Given the description of an element on the screen output the (x, y) to click on. 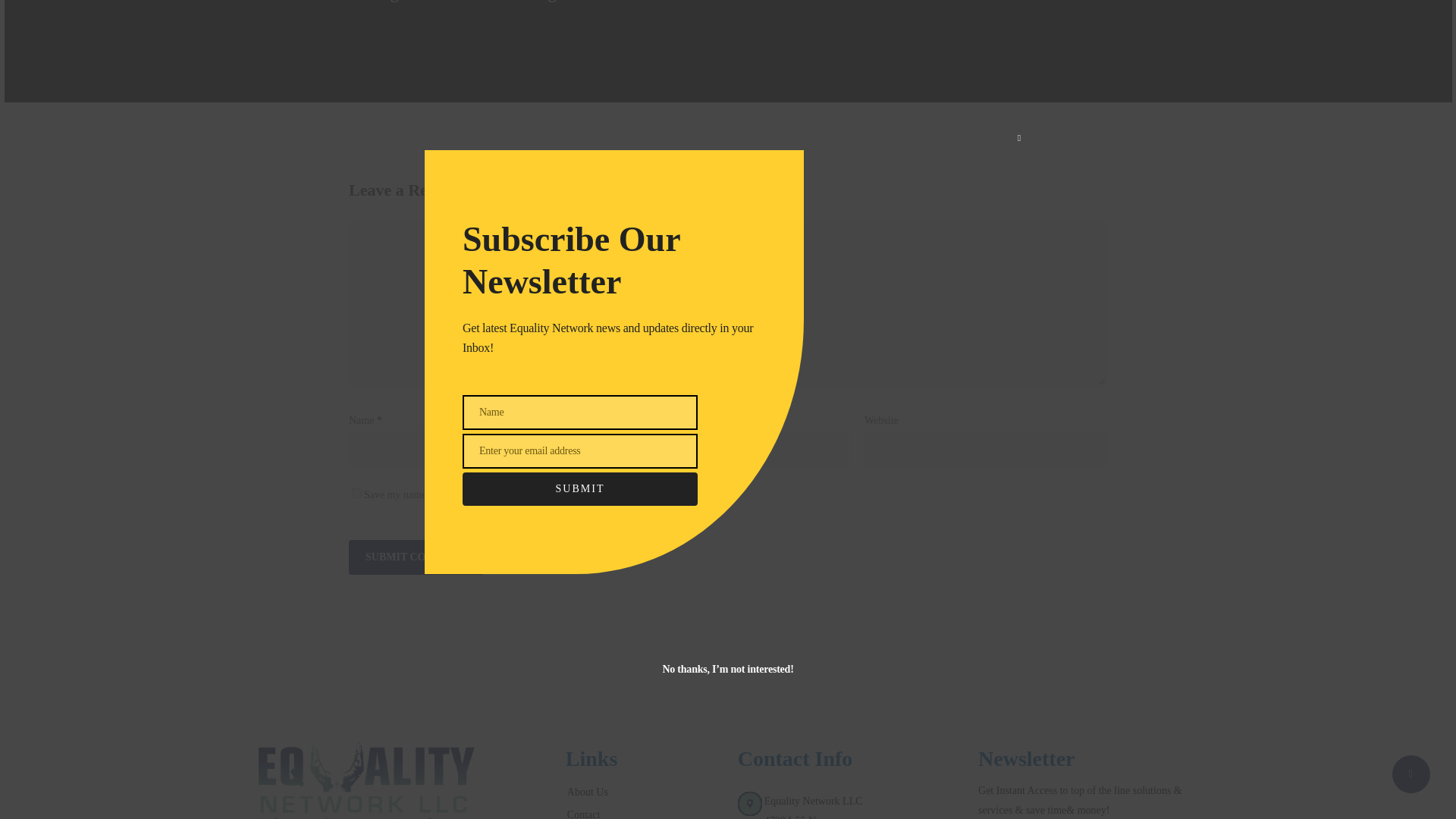
Submit Comment (416, 556)
